Given the description of an element on the screen output the (x, y) to click on. 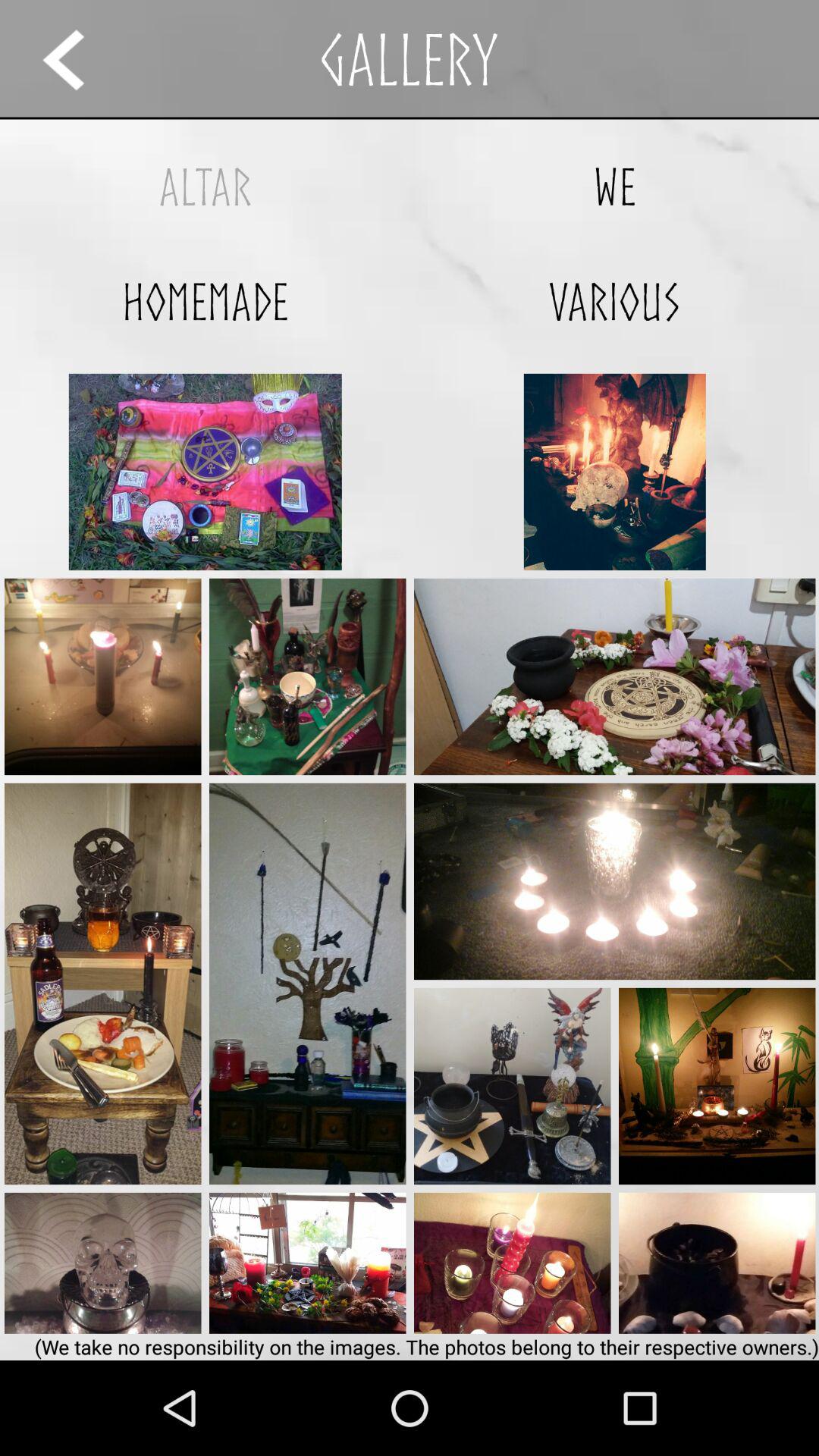
scroll until the various icon (614, 301)
